Given the description of an element on the screen output the (x, y) to click on. 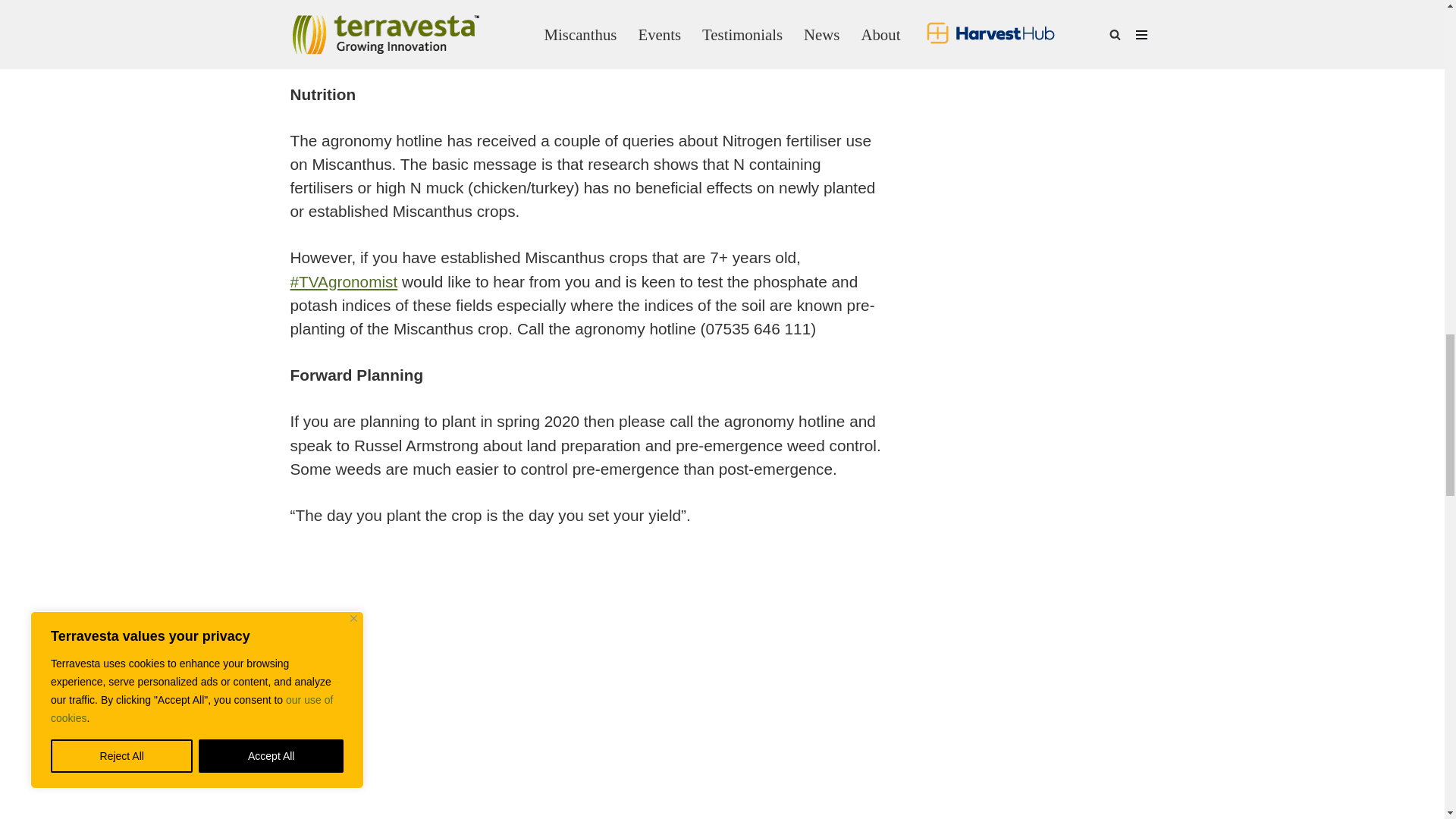
Subscribe (1044, 18)
